Given the description of an element on the screen output the (x, y) to click on. 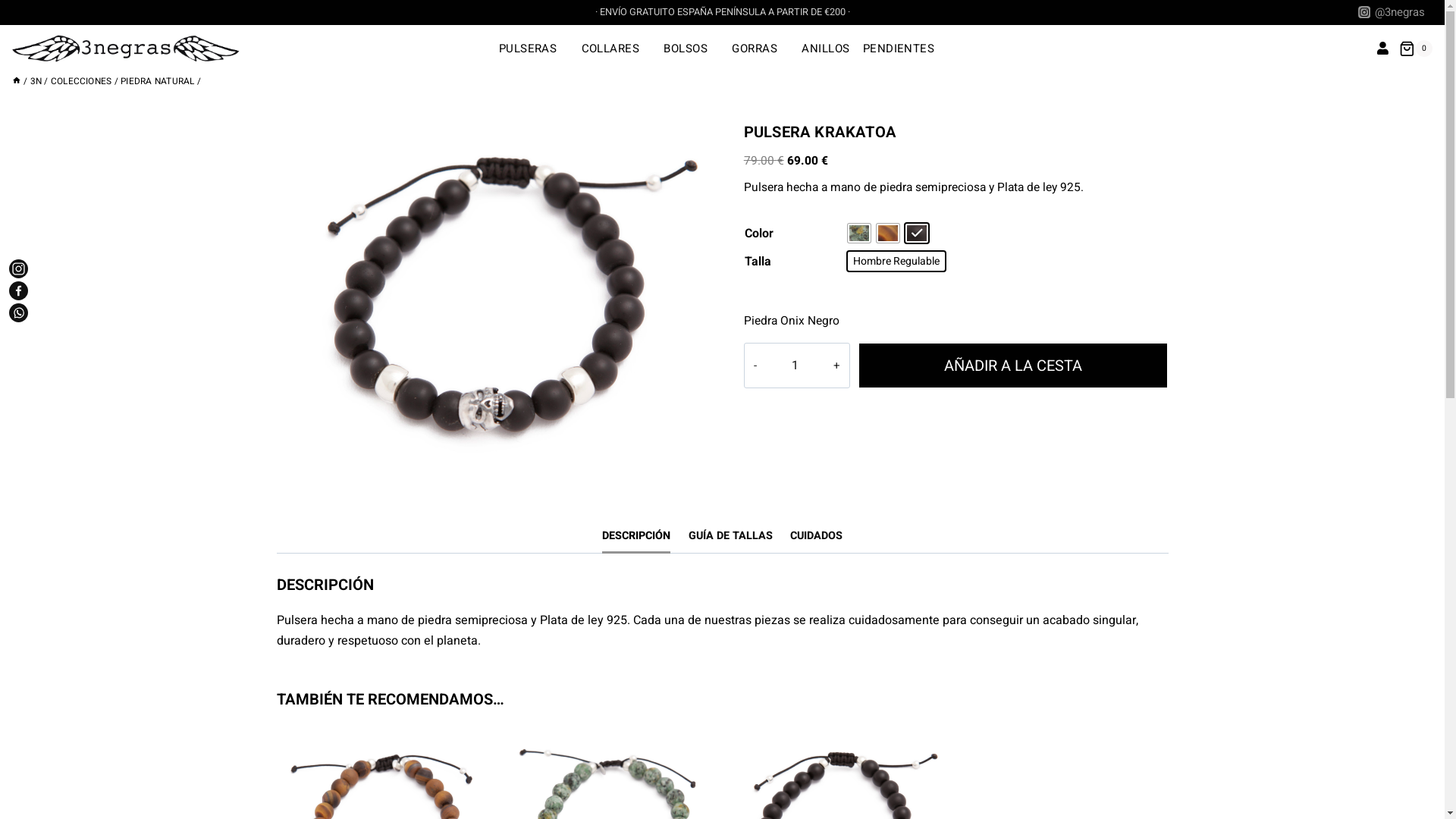
COLLARES Element type: text (615, 48)
Facebook Element type: hover (18, 290)
COLECCIONES Element type: text (81, 81)
Piedra Onix negro Element type: hover (916, 232)
Inicio Element type: hover (16, 81)
PULSERAS Element type: text (533, 48)
@3negras Element type: text (1391, 12)
Whatsapp Element type: hover (18, 312)
Instagram Element type: hover (18, 268)
BOLSOS Element type: text (691, 48)
0 Element type: text (1415, 48)
PENDIENTES Element type: text (904, 48)
3N Element type: text (35, 81)
Piedra Agata verde Element type: hover (858, 232)
GORRAS Element type: text (760, 48)
Piedra Ojo de tigre Element type: hover (887, 232)
PIEDRA NATURAL Element type: text (157, 81)
CUIDADOS Element type: text (816, 536)
ANILLOS Element type: text (825, 48)
